Given the description of an element on the screen output the (x, y) to click on. 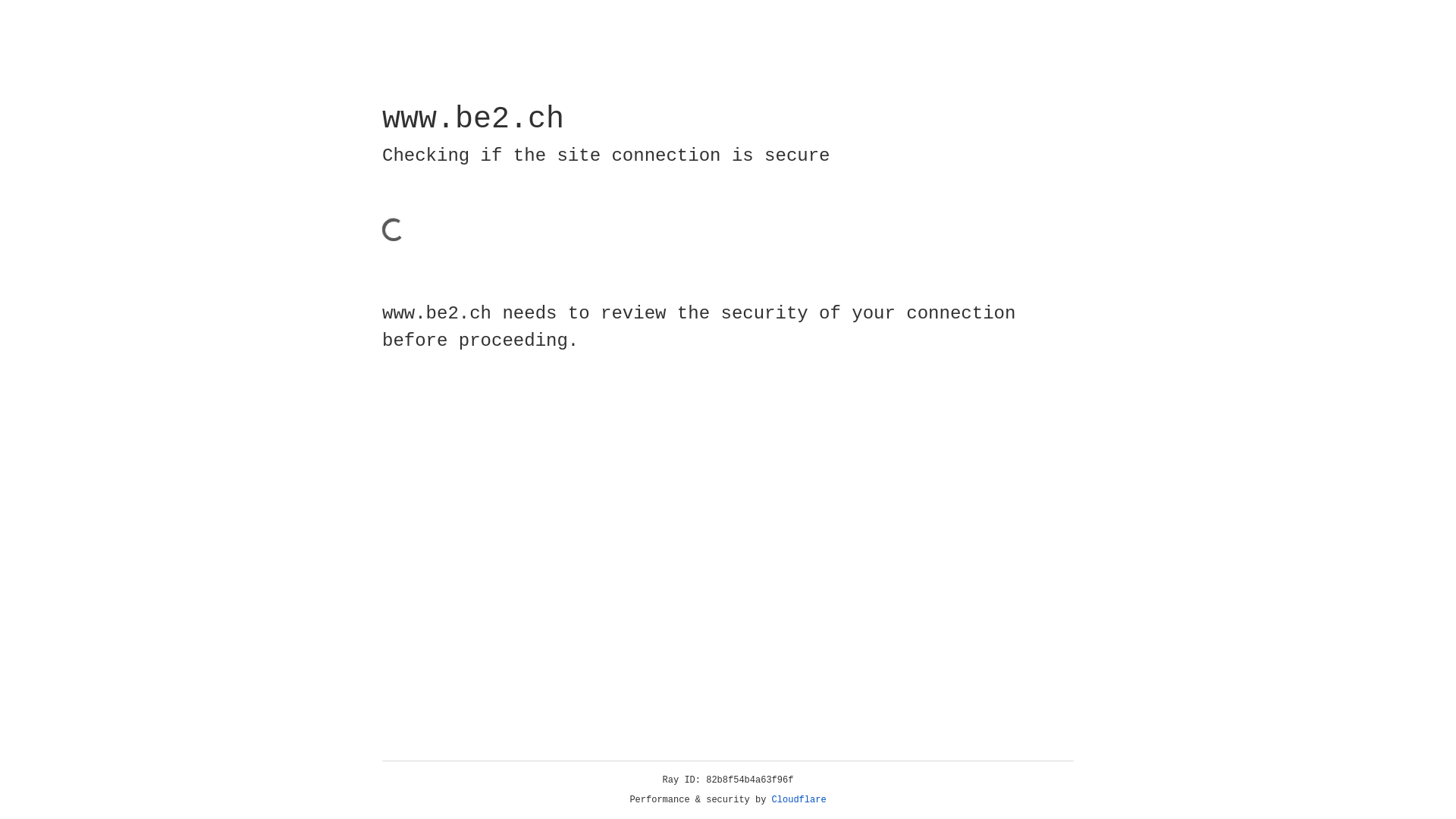
Cloudflare Element type: text (798, 799)
